Given the description of an element on the screen output the (x, y) to click on. 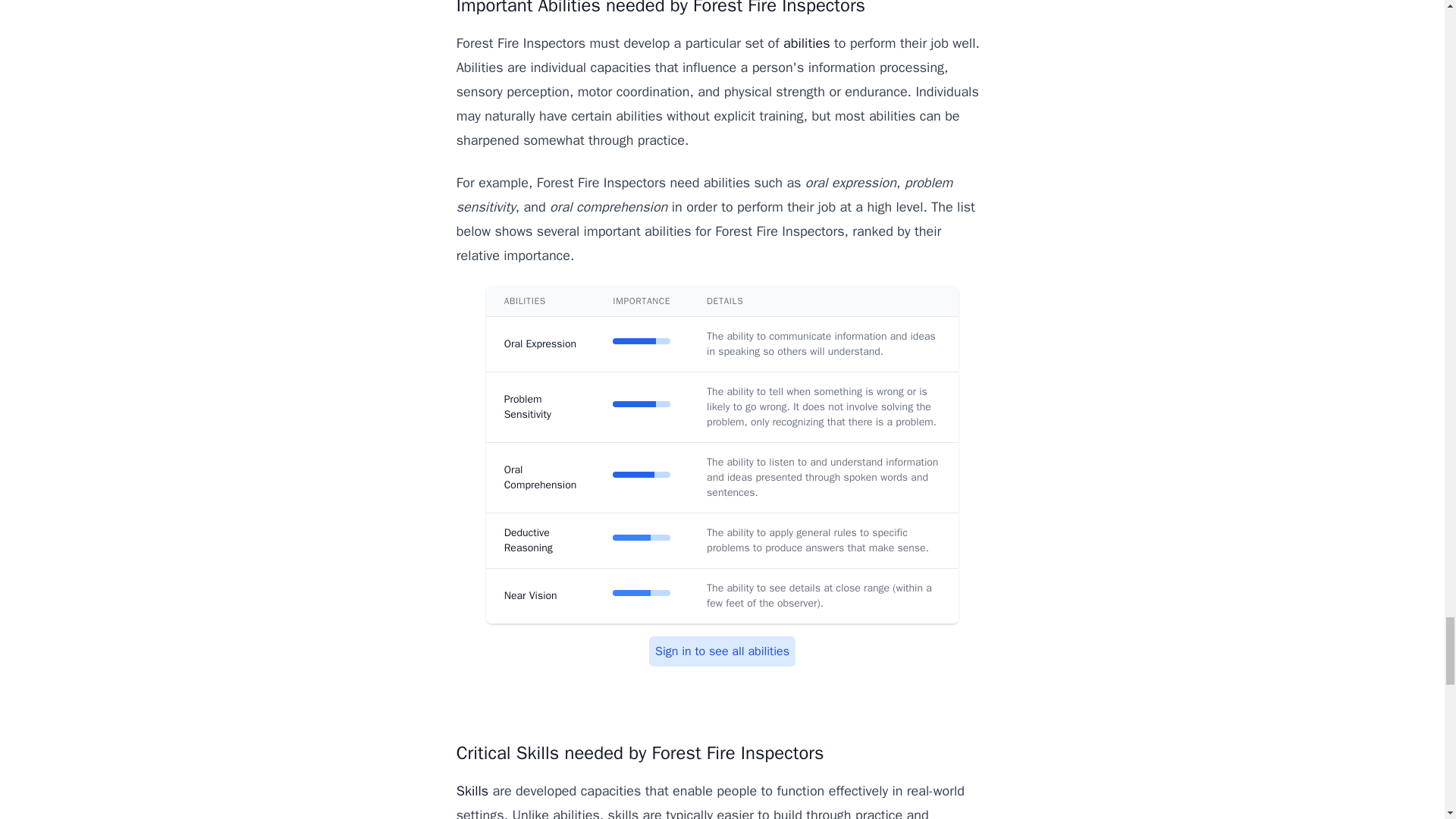
Sign in to see all abilities (721, 651)
